Given the description of an element on the screen output the (x, y) to click on. 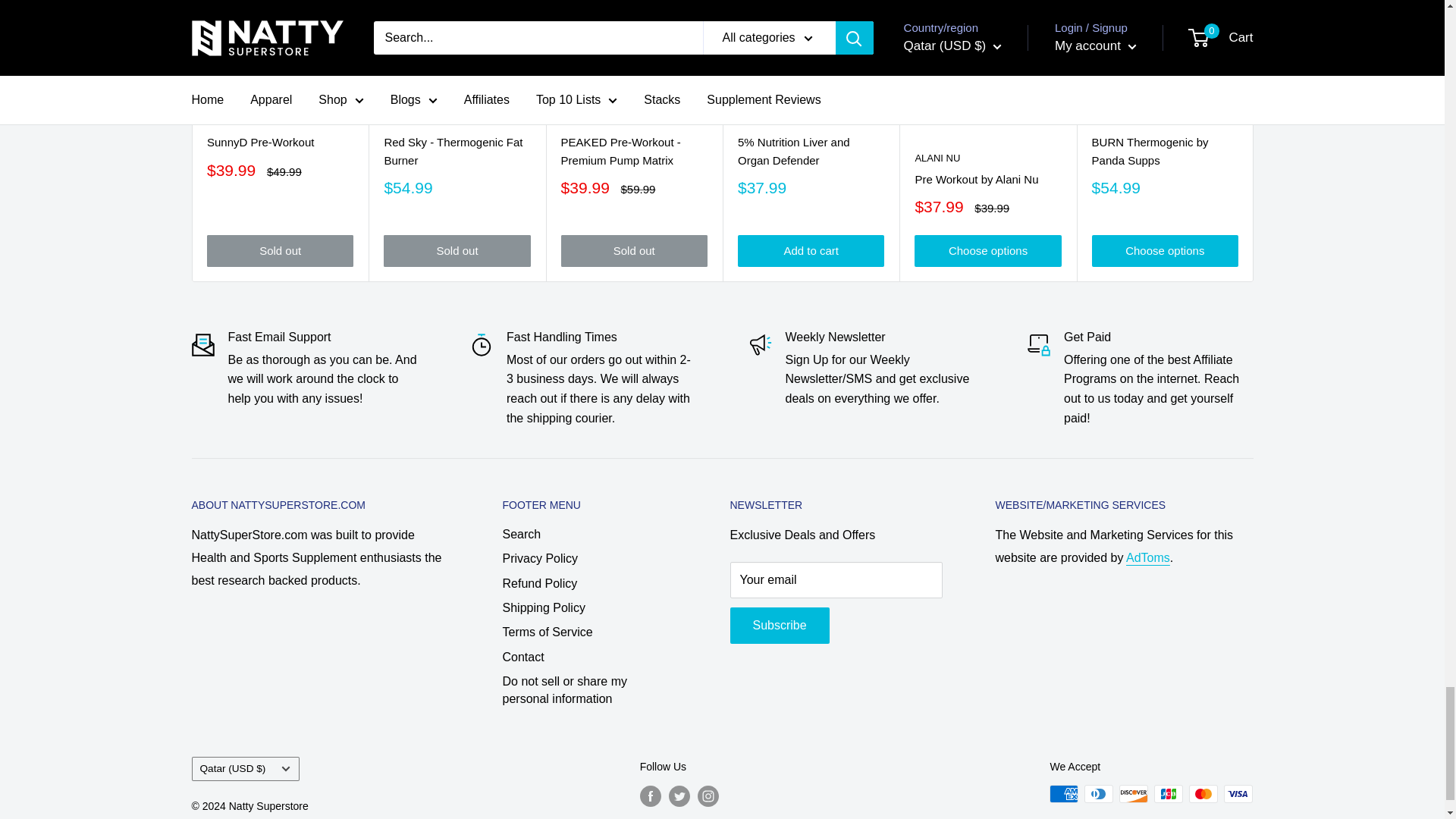
AdToms (1147, 557)
